Given the description of an element on the screen output the (x, y) to click on. 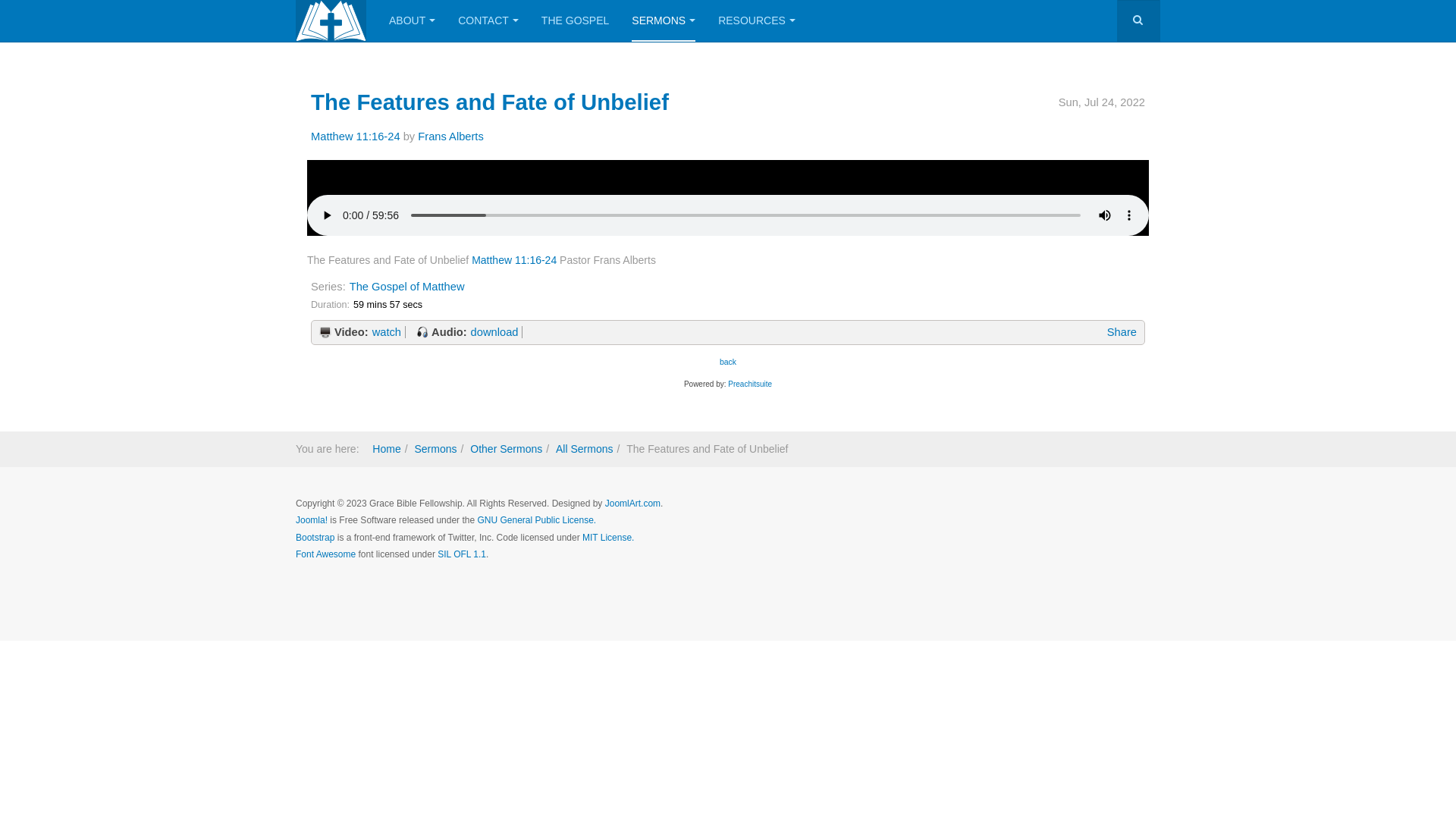
download Element type: text (495, 332)
All Sermons Element type: text (583, 448)
ABOUT Element type: text (412, 20)
SERMONS Element type: text (663, 20)
The Features and Fate of Unbelief Element type: text (489, 101)
Frans Alberts Element type: text (450, 136)
Purity III Element type: hover (330, 20)
Sermons Element type: text (435, 448)
back Element type: text (727, 361)
Share Element type: text (1121, 332)
RESOURCES Element type: text (756, 20)
The Gospel of Matthew Element type: text (406, 286)
Home Element type: text (386, 448)
Matthew 11:16-24 Element type: text (355, 136)
Matthew 11:16-24 Element type: text (513, 260)
SIL OFL 1.1 Element type: text (461, 554)
CONTACT Element type: text (488, 20)
JoomlArt.com Element type: text (632, 503)
GNU General Public License. Element type: text (536, 519)
Font Awesome Element type: text (325, 554)
watch Element type: text (386, 332)
MIT License. Element type: text (607, 537)
Joomla! Element type: text (311, 519)
THE GOSPEL Element type: text (574, 20)
Preachitsuite Element type: text (749, 383)
Bootstrap Element type: text (314, 537)
Other Sermons Element type: text (506, 448)
